Given the description of an element on the screen output the (x, y) to click on. 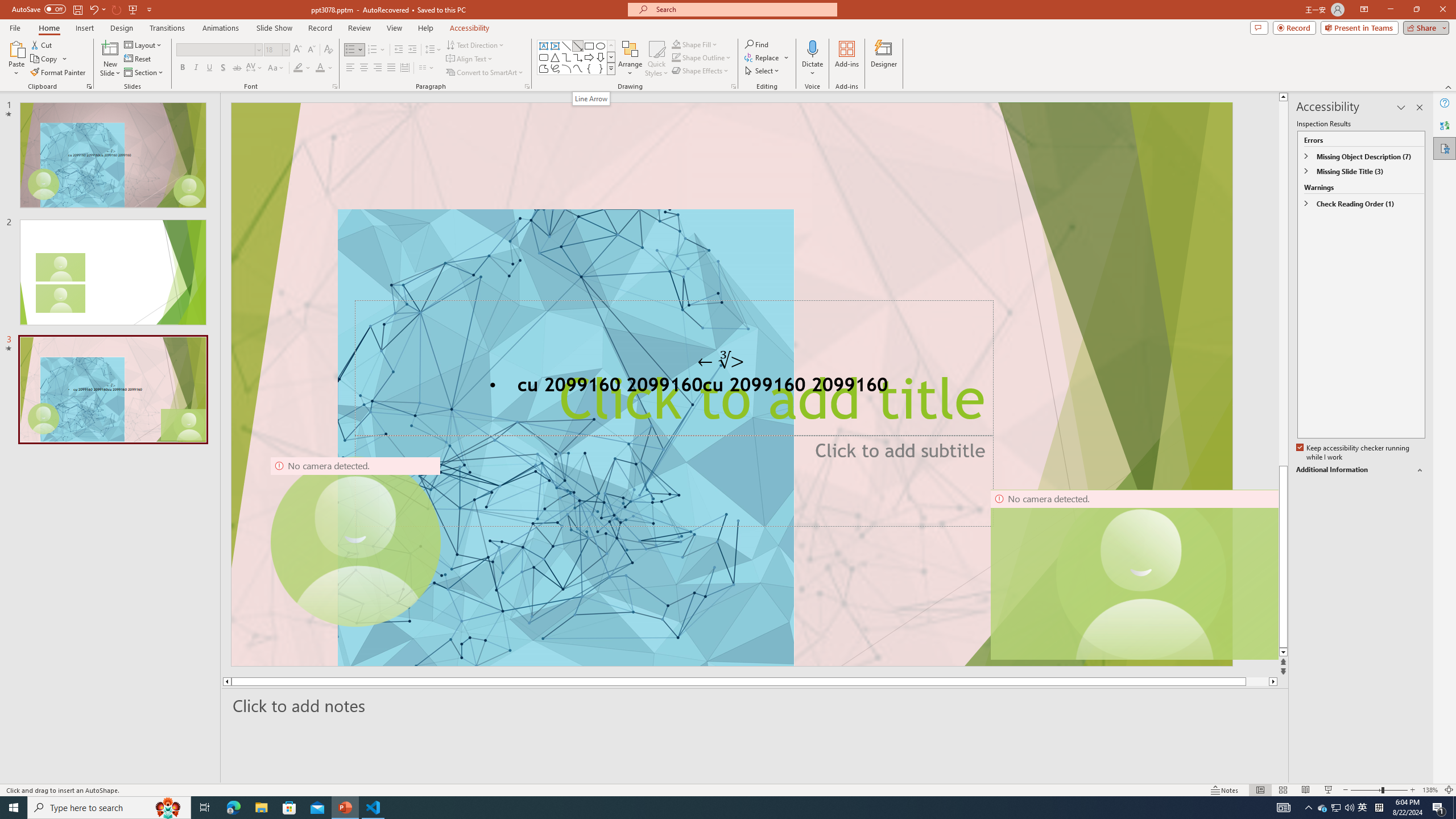
Shape Outline Green, Accent 1 (675, 56)
Keep accessibility checker running while I work (1353, 452)
Font Color Red (320, 67)
Vertical Text Box (554, 45)
Format Painter (58, 72)
TextBox 61 (730, 386)
Find... (756, 44)
Columns (426, 67)
Distributed (404, 67)
